Given the description of an element on the screen output the (x, y) to click on. 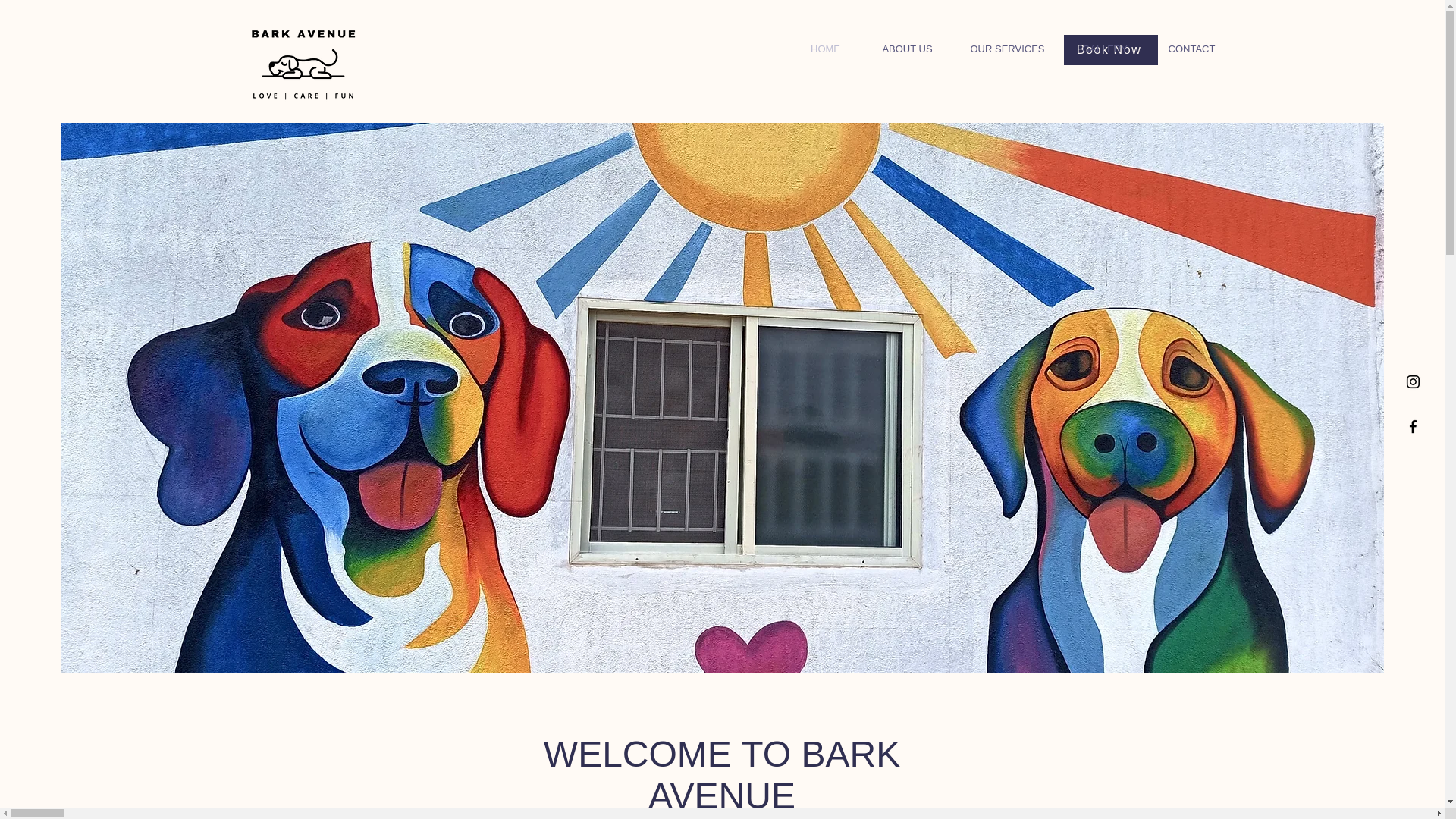
GALLERY (1104, 48)
CONTACT (1191, 48)
ABOUT US (906, 48)
OUR SERVICES (1007, 48)
Book Now (1109, 50)
HOME (825, 48)
